Given the description of an element on the screen output the (x, y) to click on. 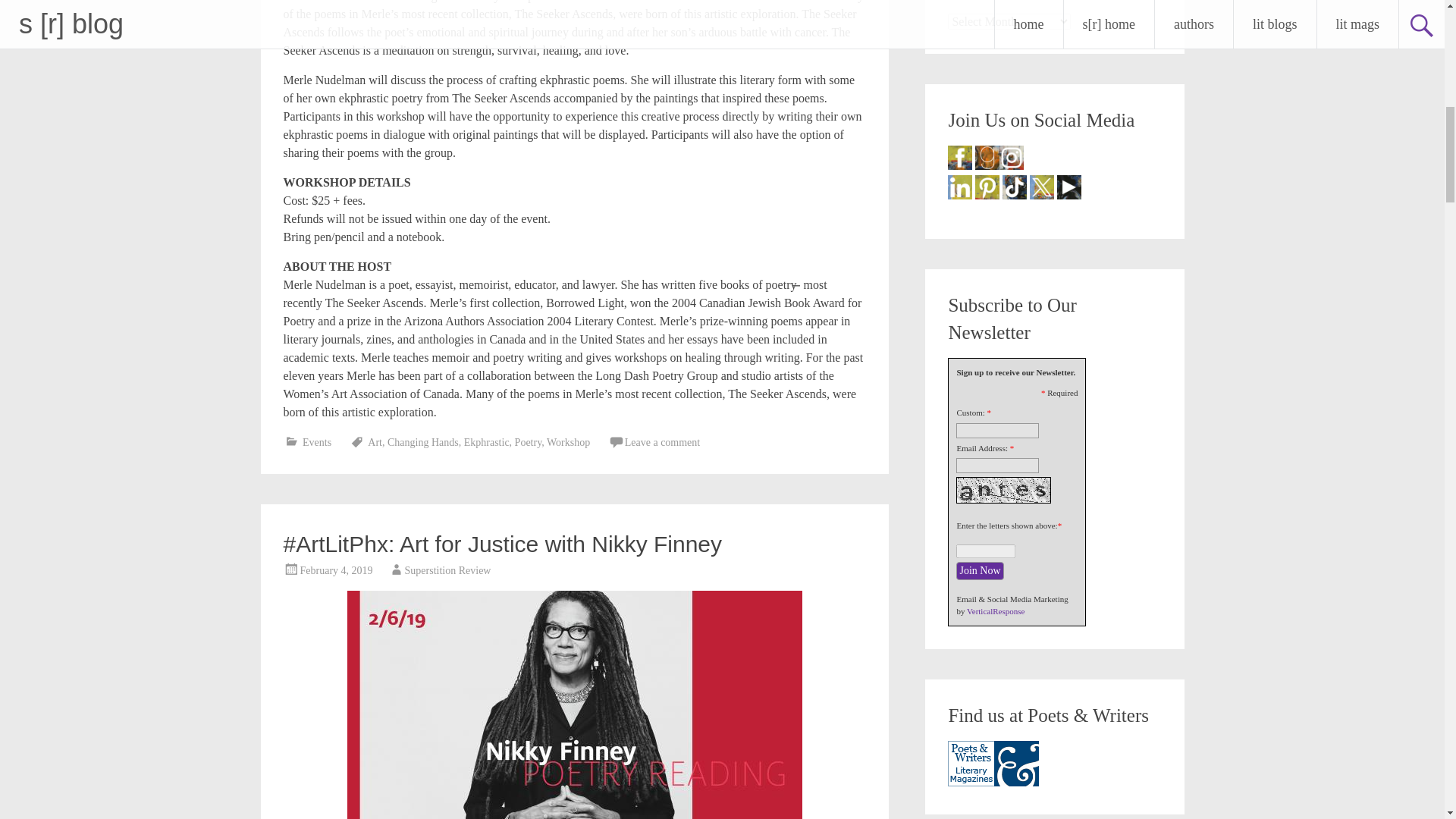
Superstition Review on Instagram (1010, 157)
February 4, 2019 (335, 570)
Events (316, 441)
Changing Hands (422, 441)
Leave a comment (662, 441)
Ekphrastic (486, 441)
Join Now (979, 570)
Superstition Review (448, 570)
Workshop (568, 441)
Poetry (528, 441)
Art (374, 441)
